Given the description of an element on the screen output the (x, y) to click on. 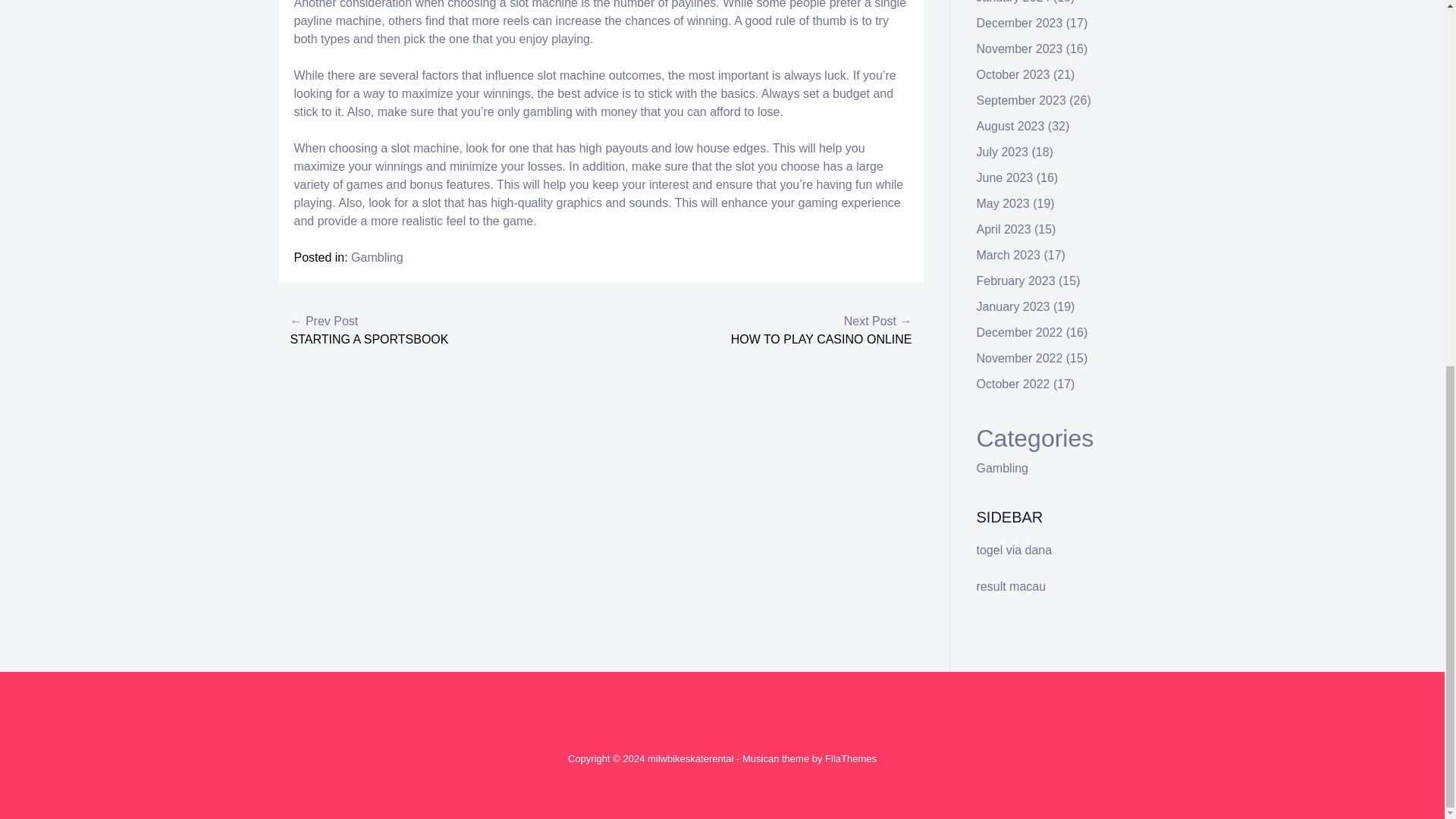
September 2023 (1020, 100)
January 2023 (1012, 306)
May 2023 (1002, 203)
togel via dana (1014, 549)
October 2023 (1012, 74)
July 2023 (1002, 151)
August 2023 (1010, 125)
December 2022 (1019, 332)
November 2022 (1019, 358)
Gambling (1001, 468)
